Given the description of an element on the screen output the (x, y) to click on. 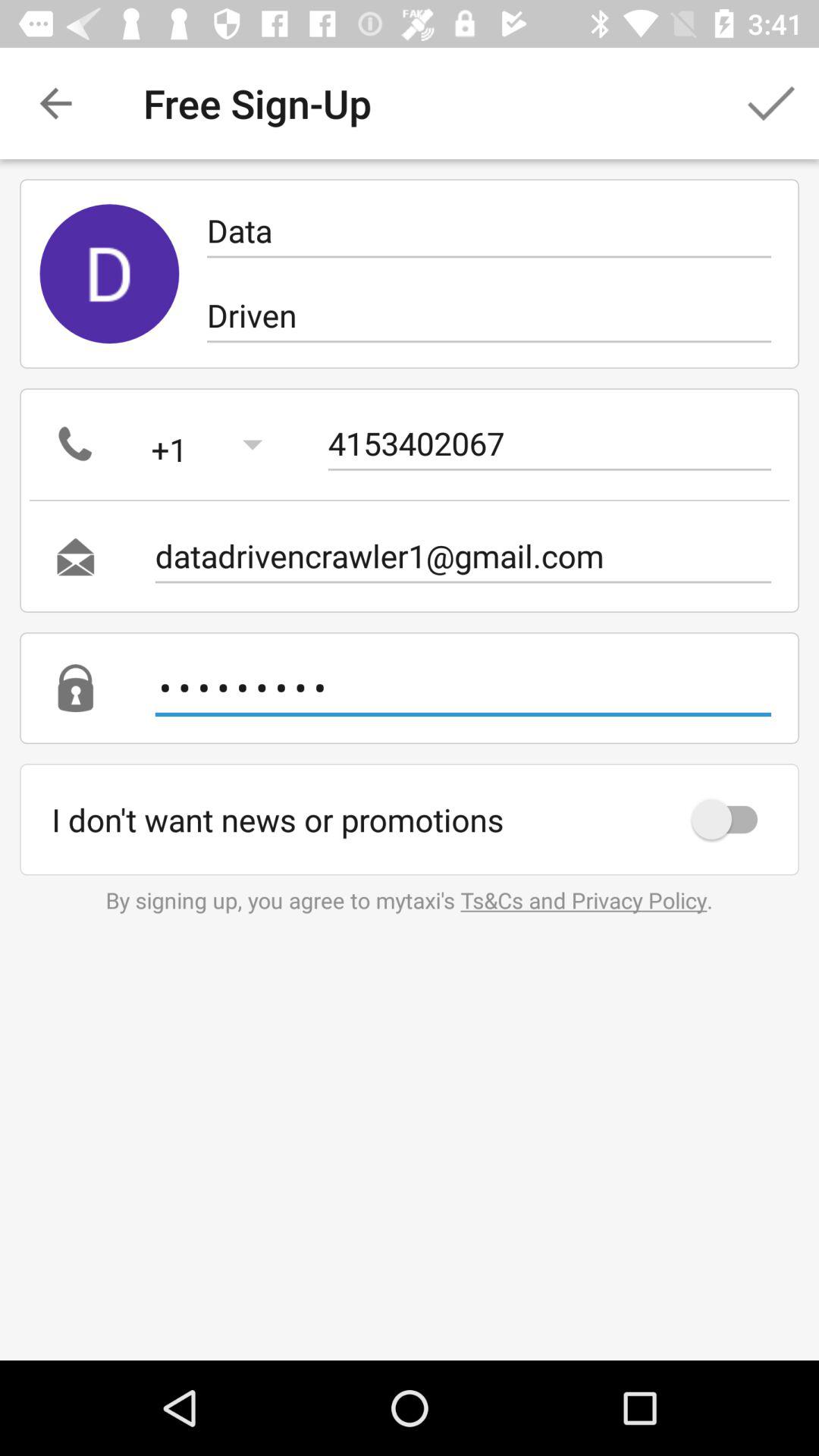
choose the item above data (771, 103)
